Given the description of an element on the screen output the (x, y) to click on. 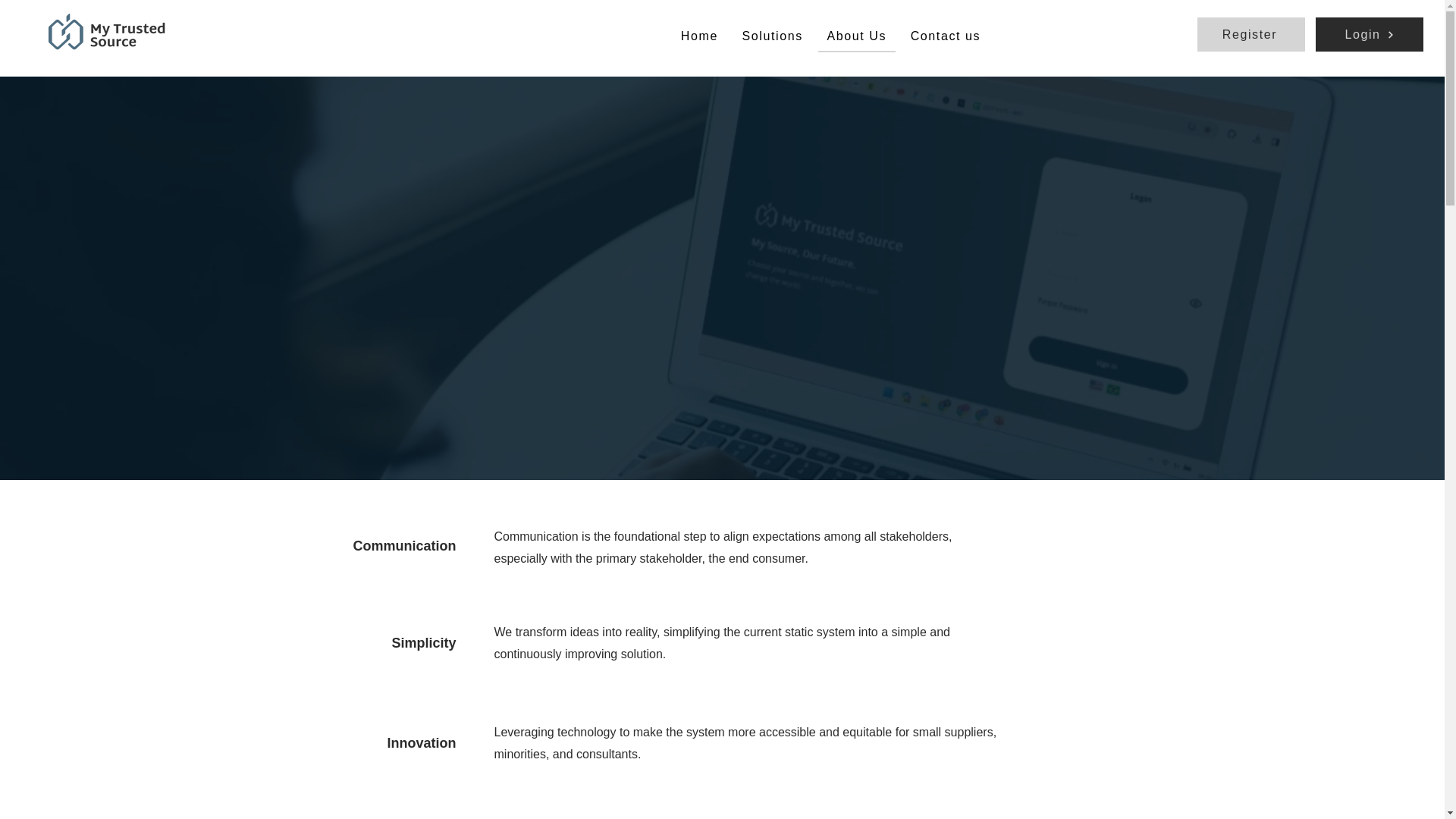
Login (1369, 34)
Home (698, 37)
Register (1250, 34)
Contact us (945, 37)
About Us (856, 37)
